Given the description of an element on the screen output the (x, y) to click on. 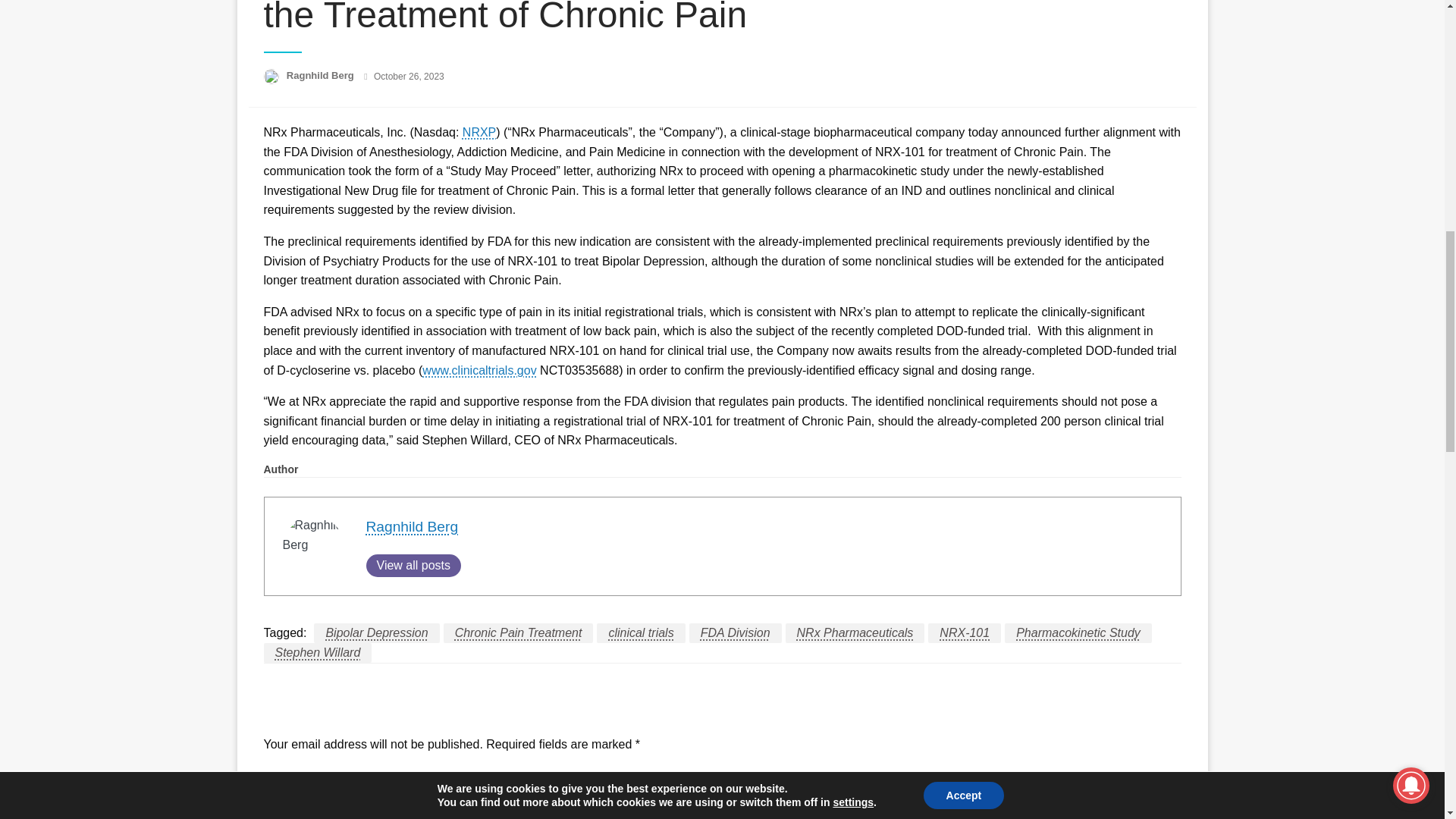
Ragnhild Berg (321, 75)
clinical trials (640, 632)
FDA Division (734, 632)
NRx Pharmaceuticals (855, 632)
Ragnhild Berg (411, 526)
Ragnhild Berg (411, 526)
Bipolar Depression (376, 632)
View all posts (413, 565)
NRXP (479, 132)
Ragnhild Berg (321, 75)
Chronic Pain Treatment (519, 632)
www.clinicaltrials.gov (478, 369)
October 26, 2023 (409, 76)
View all posts (413, 565)
